Given the description of an element on the screen output the (x, y) to click on. 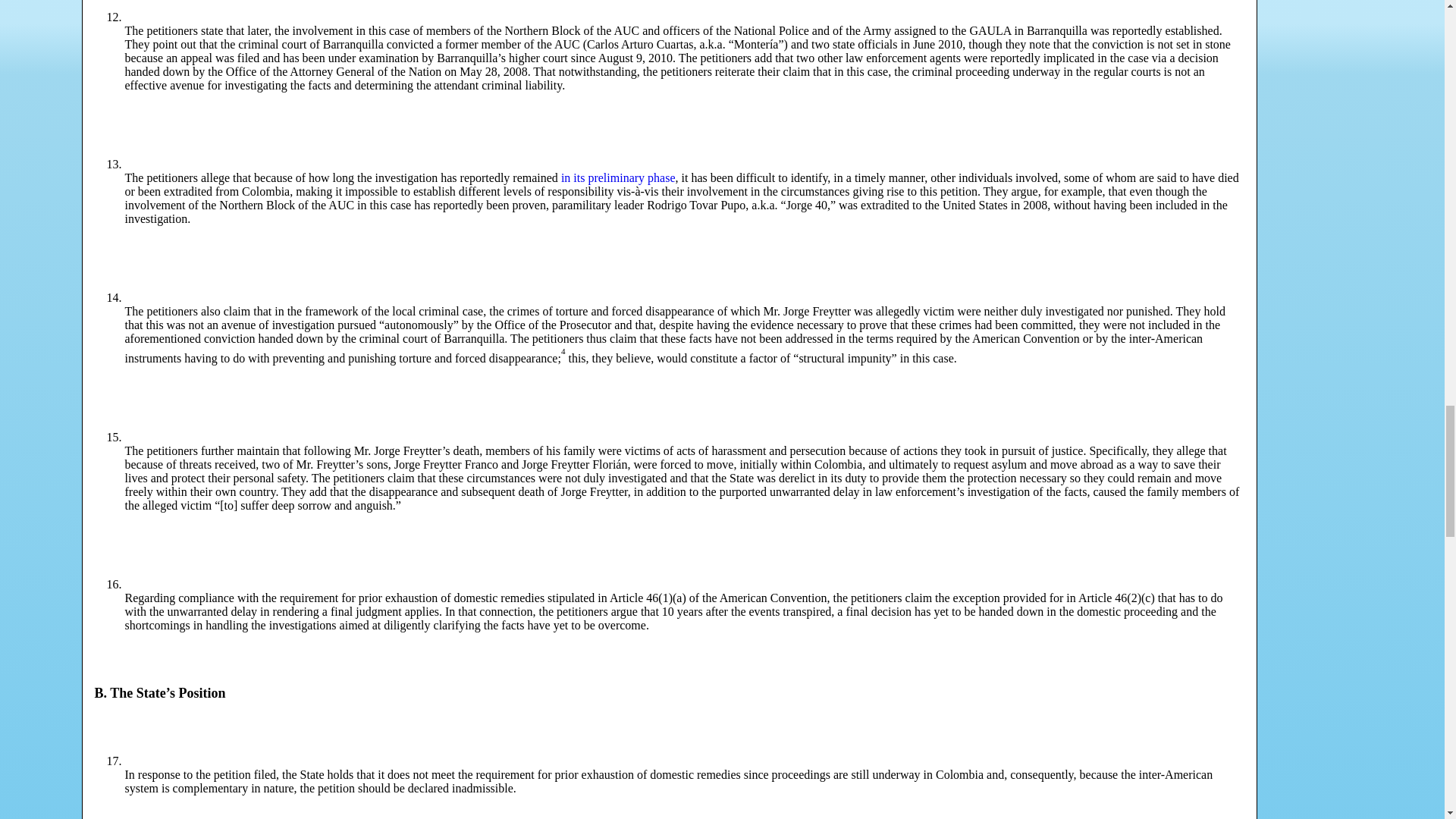
in its preliminary phase (617, 177)
